Given the description of an element on the screen output the (x, y) to click on. 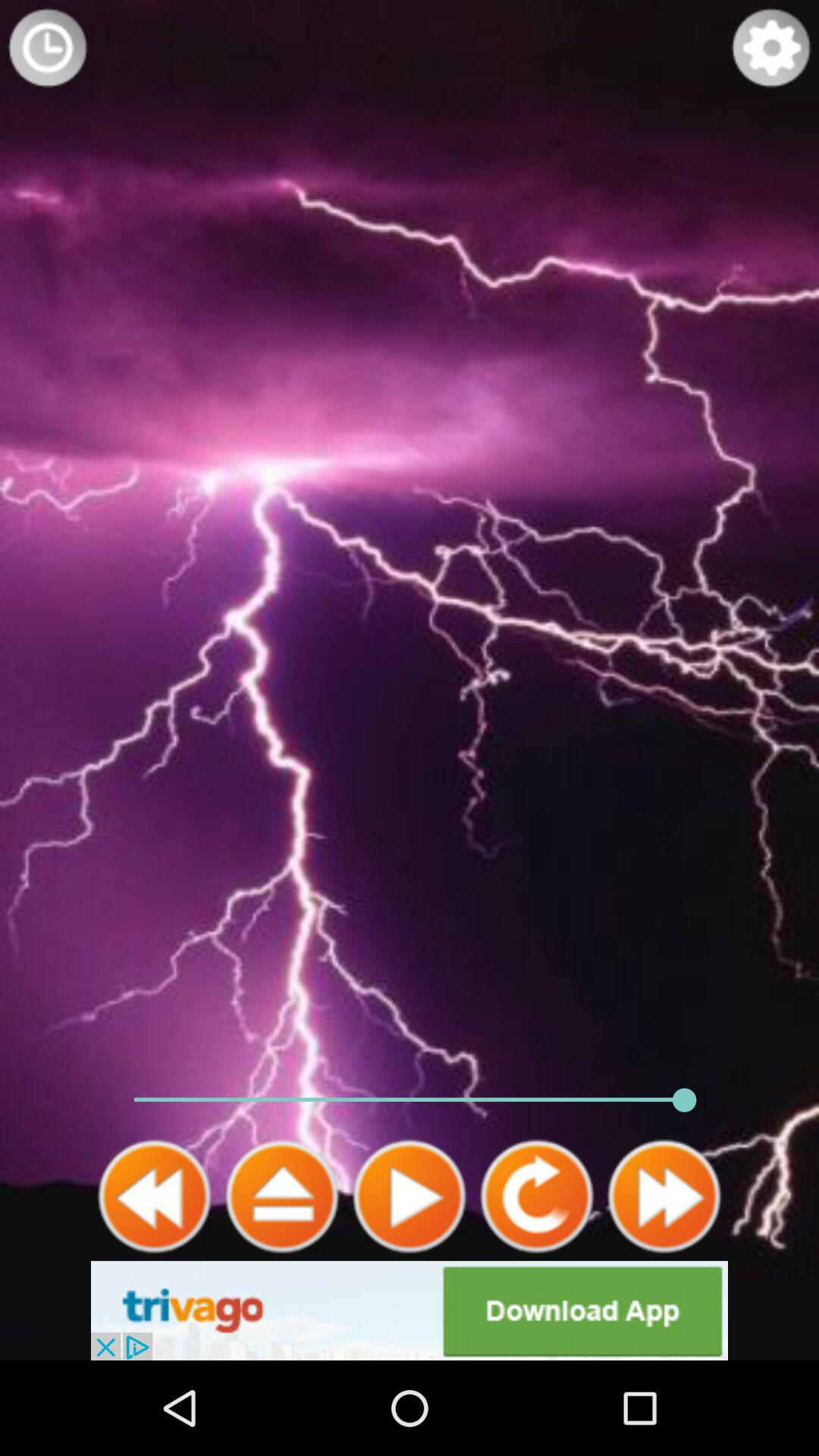
refresh option (536, 1196)
